Given the description of an element on the screen output the (x, y) to click on. 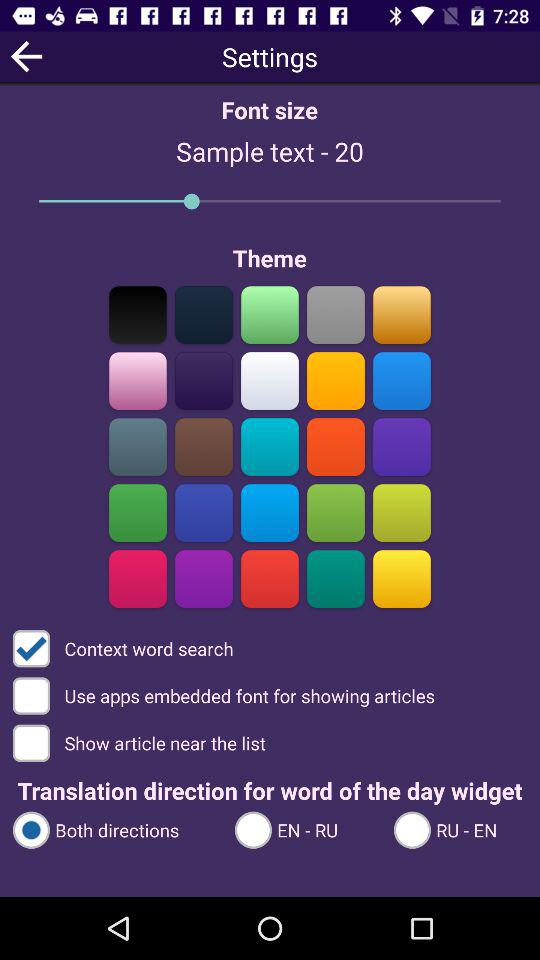
select the color blue (203, 512)
